Given the description of an element on the screen output the (x, y) to click on. 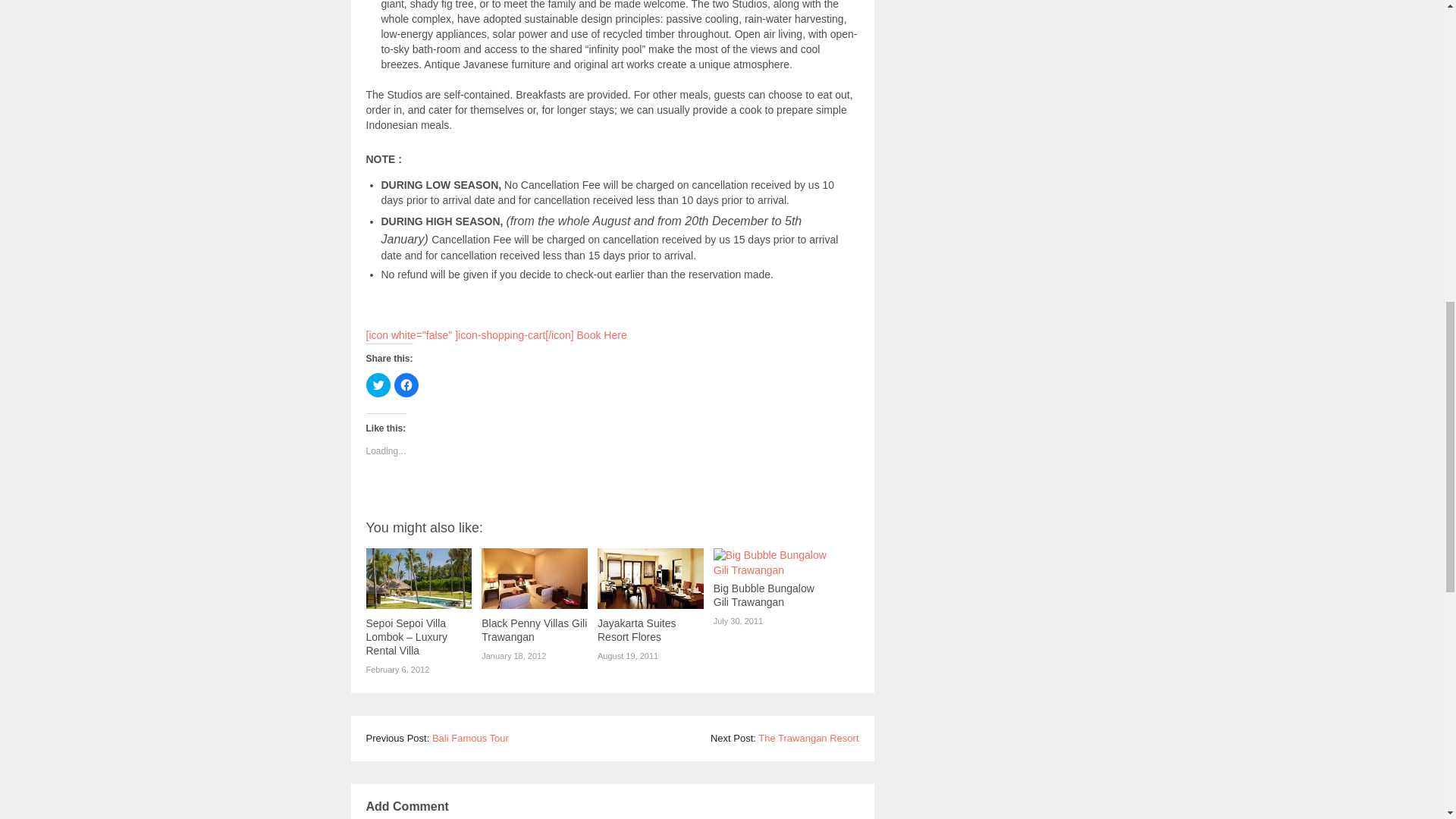
Click to share on Twitter (377, 385)
Click to share on Facebook (406, 385)
